Given the description of an element on the screen output the (x, y) to click on. 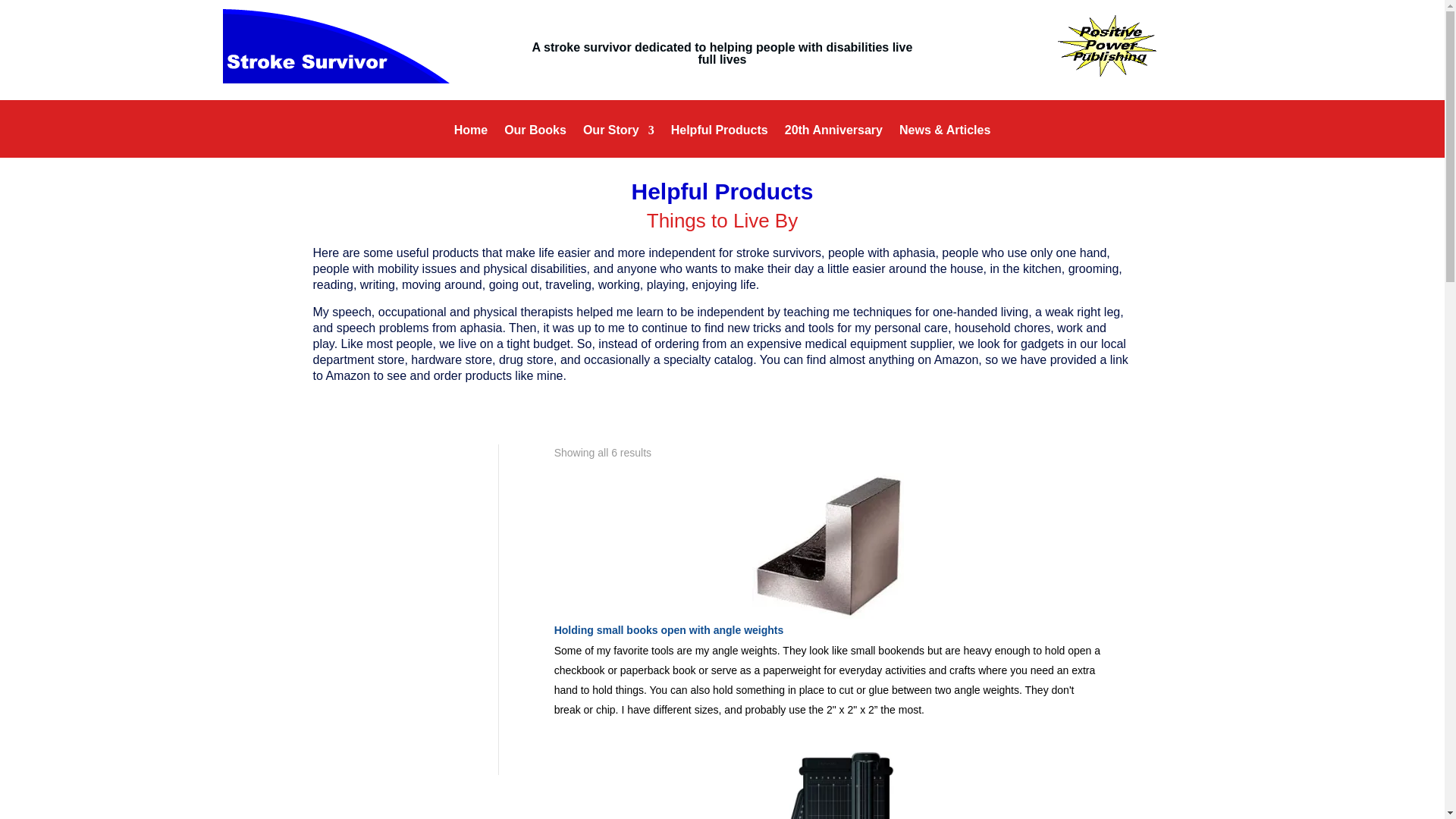
Stroke Survivor Logo (335, 45)
Our Books (534, 141)
Our Story (618, 141)
Home (470, 141)
PPP-Logo-Star (1107, 45)
20th Anniversary (833, 141)
Helpful Products (719, 141)
